Given the description of an element on the screen output the (x, y) to click on. 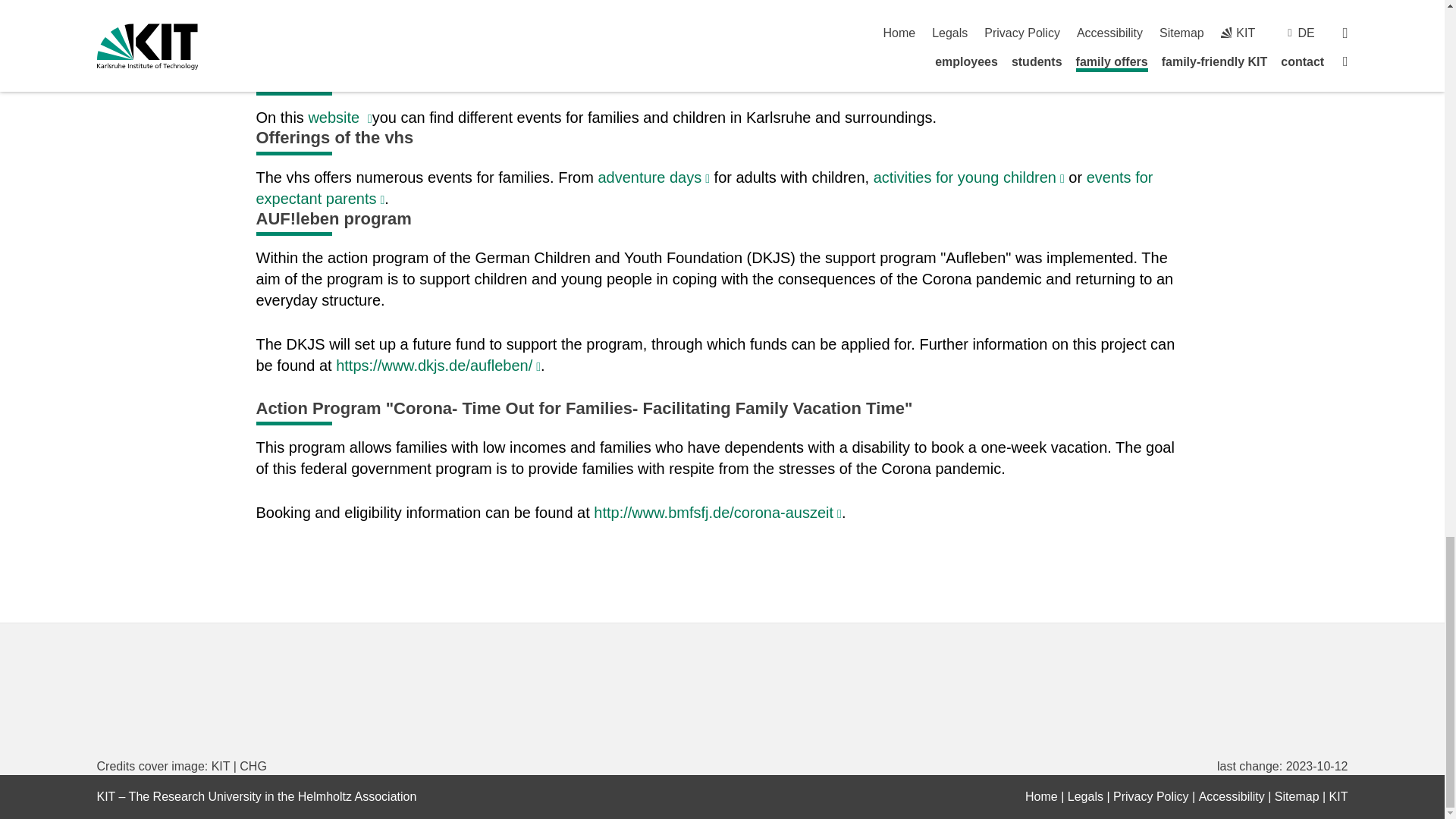
startpage (1041, 796)
